Given the description of an element on the screen output the (x, y) to click on. 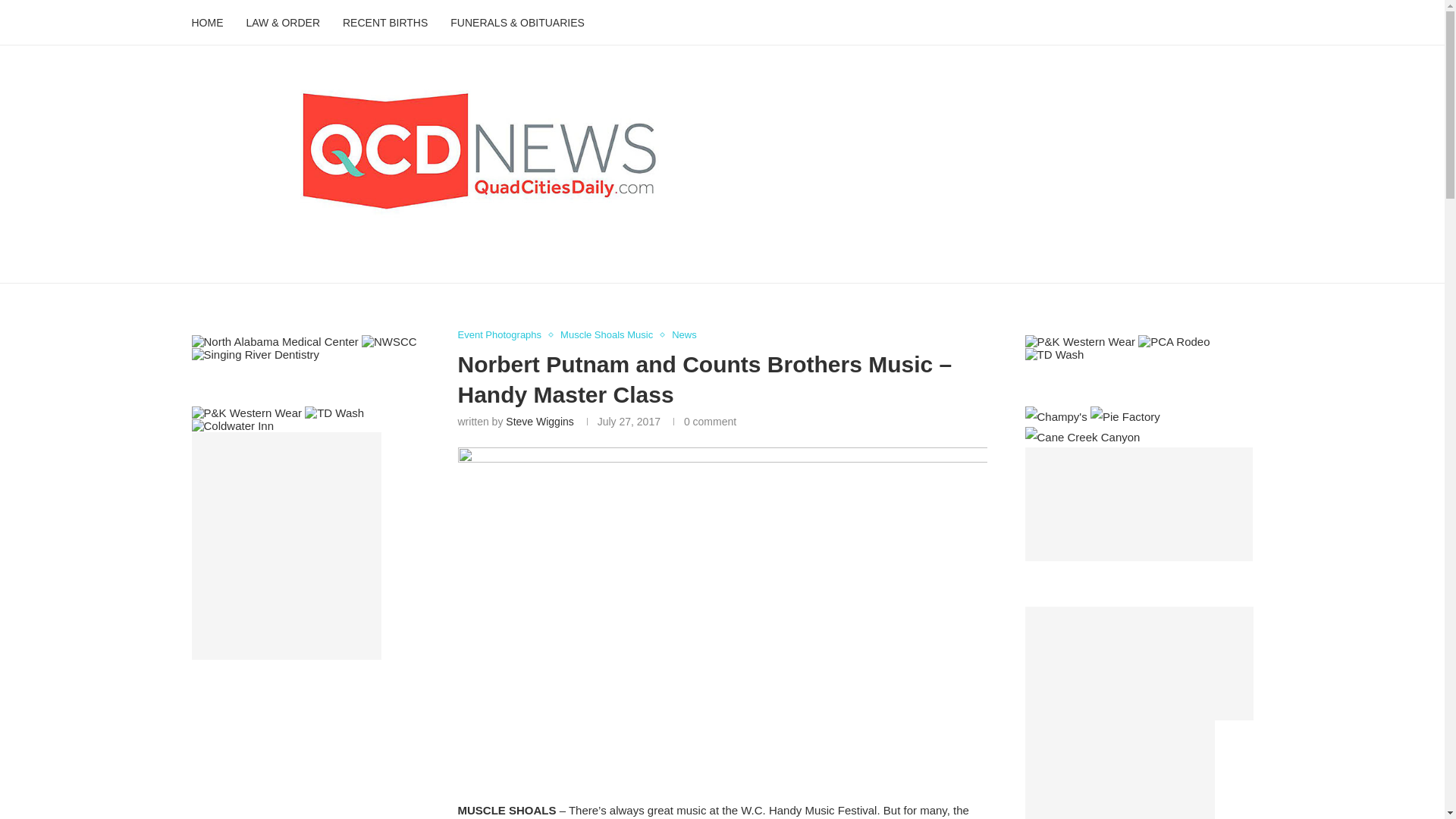
Event Photographs (504, 335)
Muscle Shoals Music (610, 335)
News (684, 335)
Steve Wiggins (539, 421)
RECENT BIRTHS (385, 22)
